Given the description of an element on the screen output the (x, y) to click on. 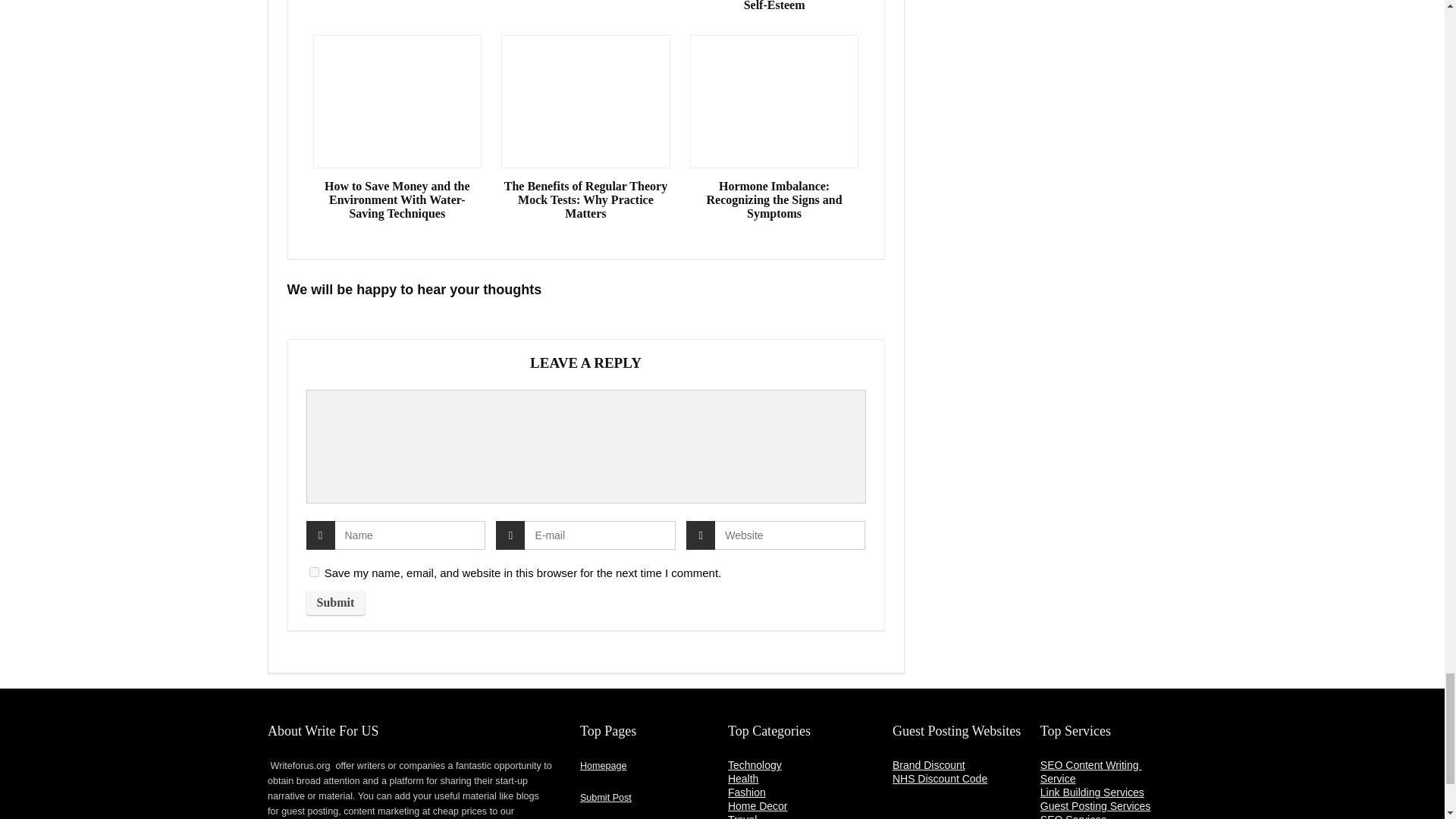
yes (313, 572)
Submit (335, 602)
Hormone Imbalance: Recognizing the Signs and Symptoms (774, 199)
